Given the description of an element on the screen output the (x, y) to click on. 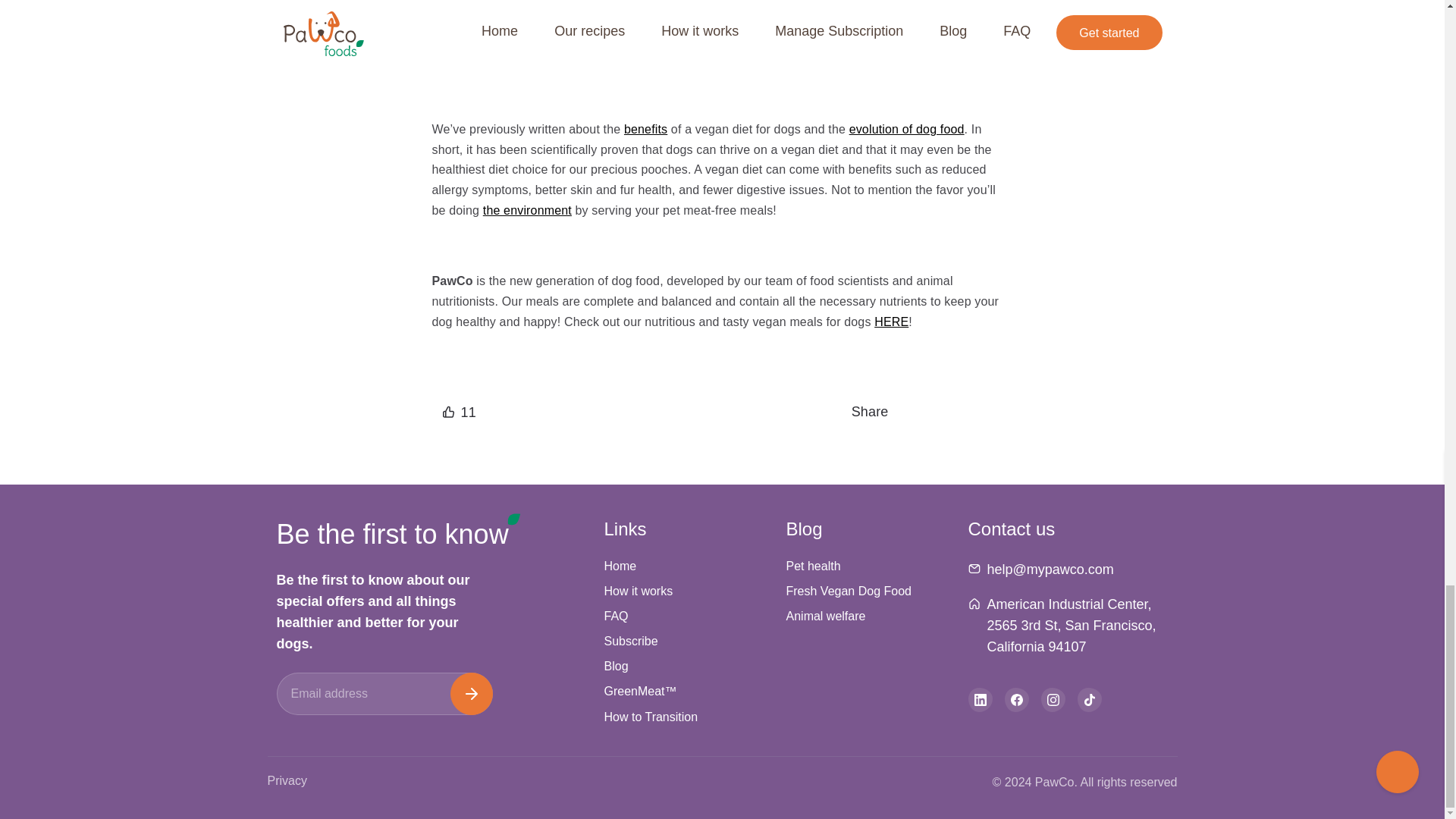
benefits (645, 128)
Blog (615, 666)
Animal welfare (825, 616)
Home (620, 565)
the environment (527, 210)
HERE (891, 321)
Privacy (285, 781)
evolution of dog food (905, 128)
Subscribe (631, 641)
How it works (638, 591)
